Given the description of an element on the screen output the (x, y) to click on. 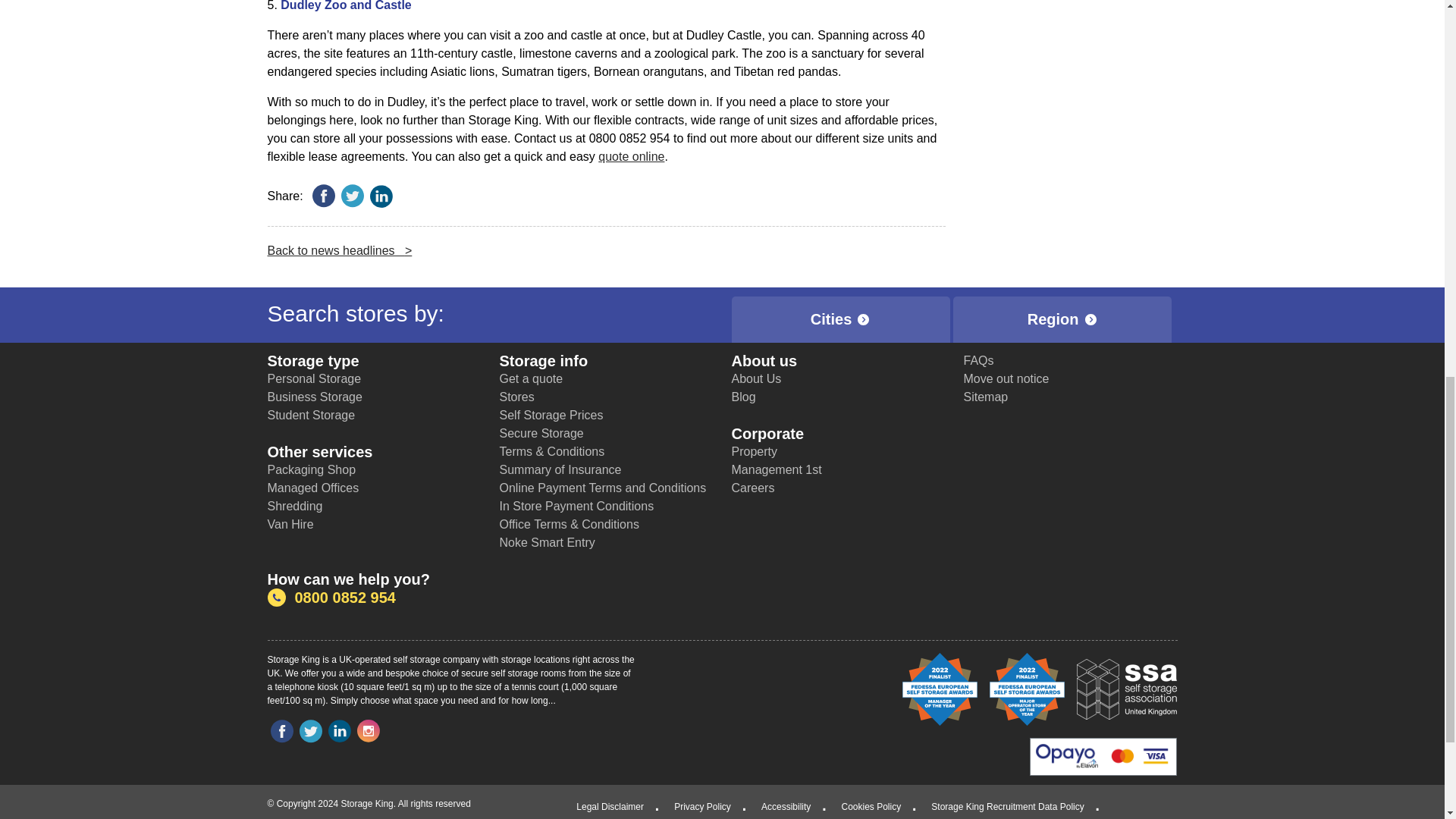
Back to news headlines   (339, 250)
Region (1062, 319)
quote online (630, 155)
Cities (839, 319)
